Given the description of an element on the screen output the (x, y) to click on. 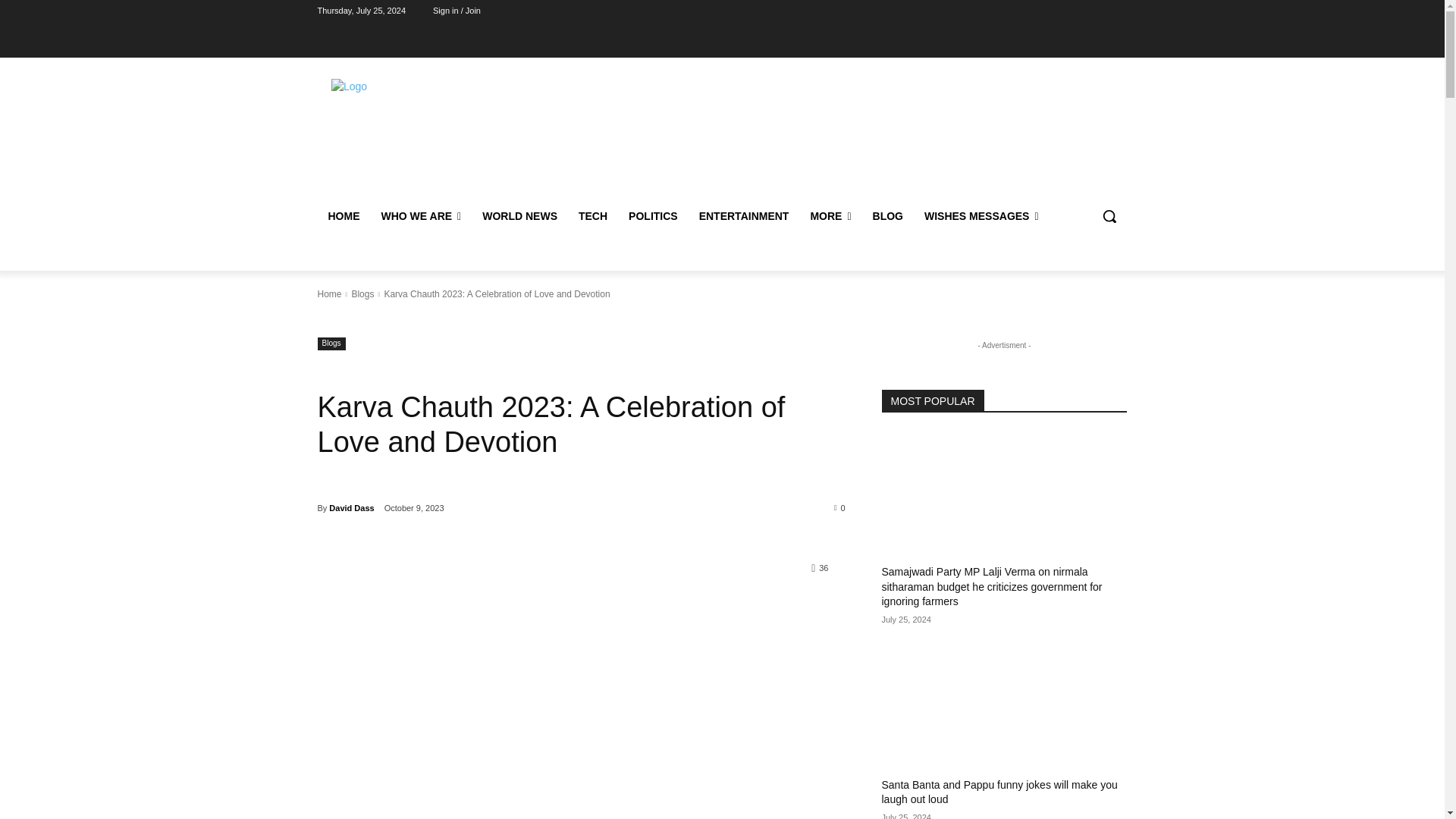
View all posts in Blogs (362, 294)
WHO WE ARE (420, 216)
WORLD NEWS (519, 216)
MORE (830, 216)
TECH (592, 216)
HOME (343, 216)
ENTERTAINMENT (743, 216)
POLITICS (652, 216)
